Given the description of an element on the screen output the (x, y) to click on. 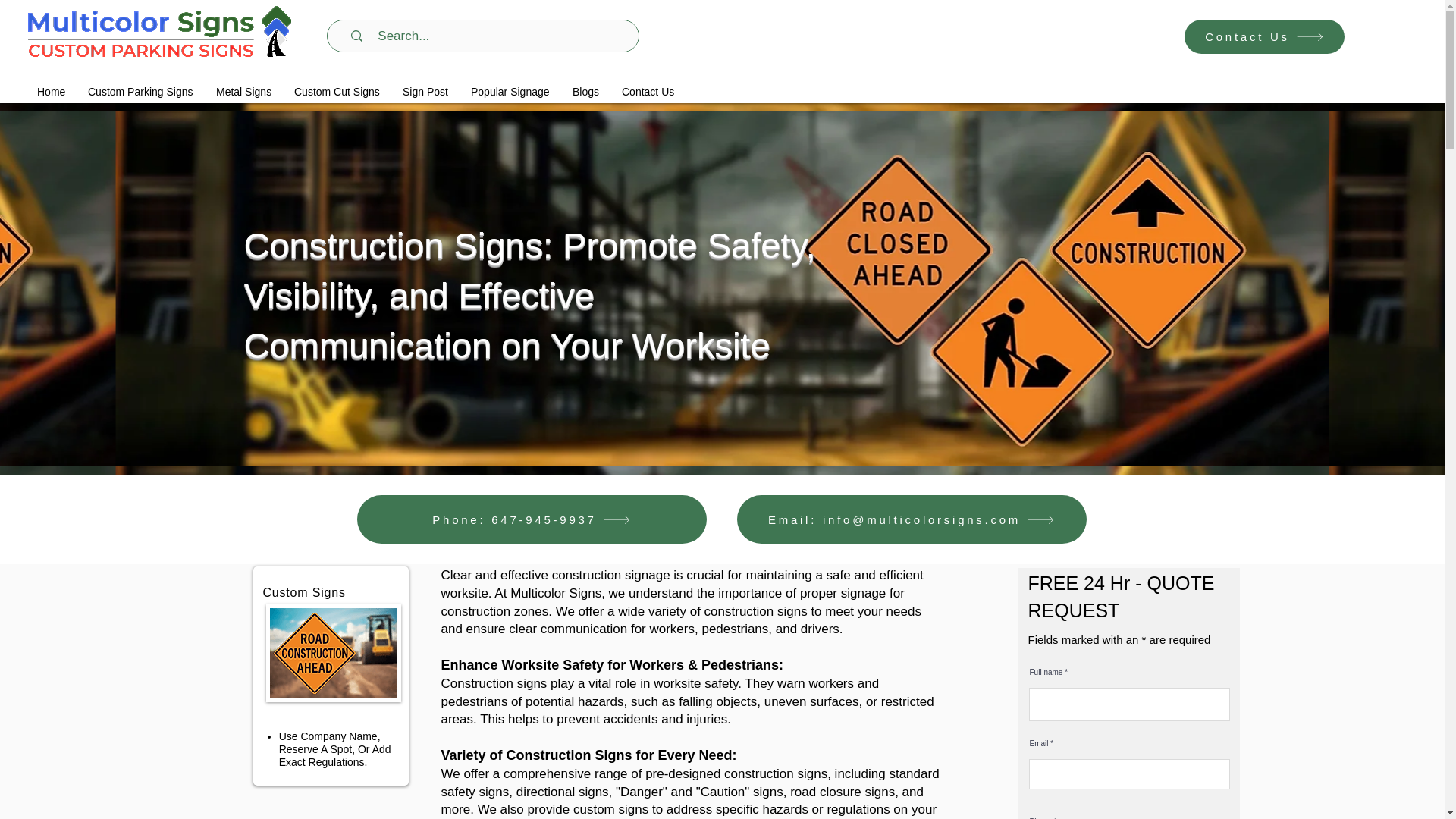
Home (51, 91)
Contact Us (1264, 36)
